Given the description of an element on the screen output the (x, y) to click on. 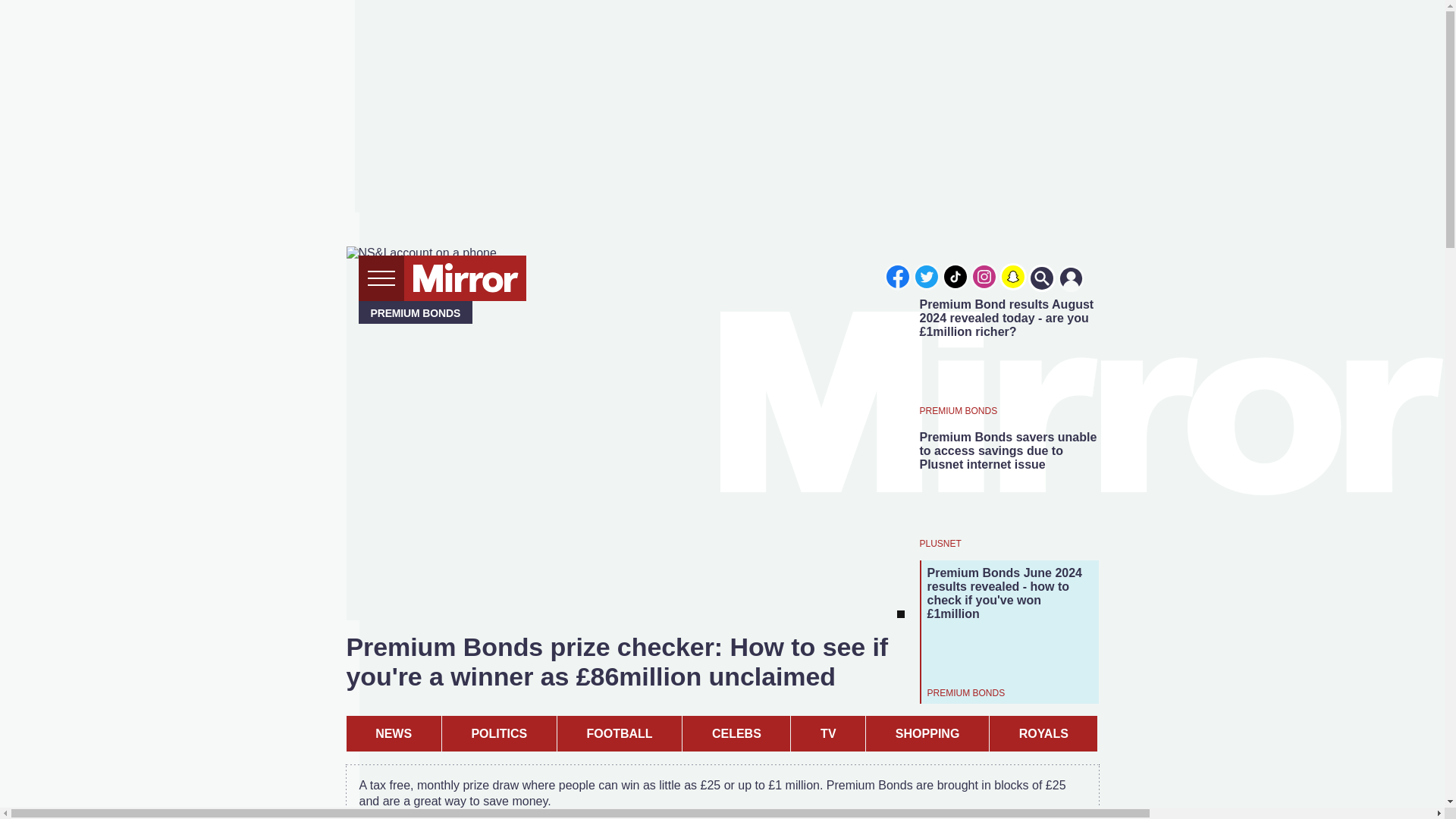
PREMIUM BONDS (957, 410)
TV (827, 733)
twitter (926, 276)
snapchat (1012, 276)
tiktok (955, 276)
facebook (897, 276)
NEWS (393, 733)
CELEBS (736, 733)
PLUSNET (939, 542)
